Given the description of an element on the screen output the (x, y) to click on. 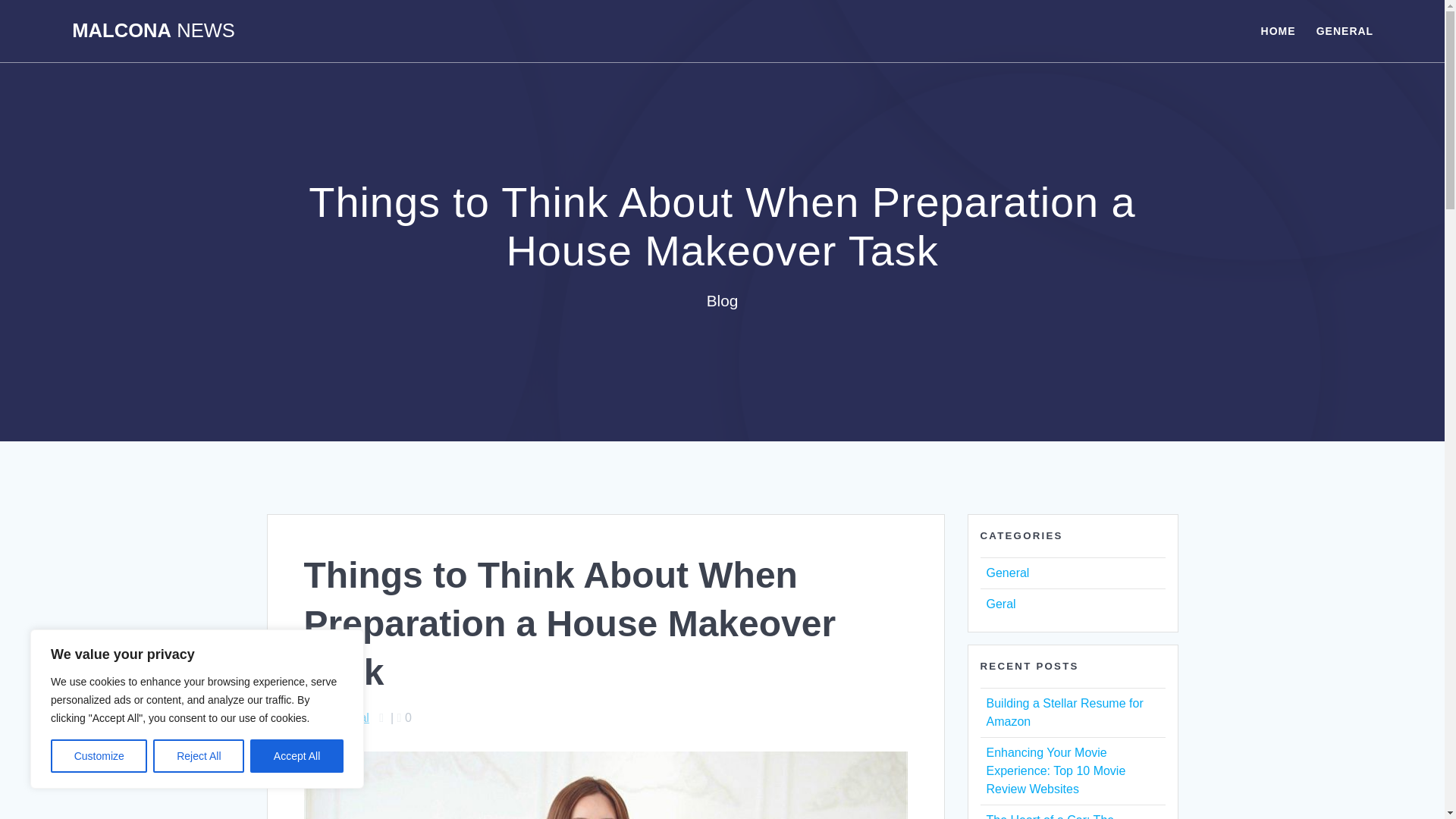
GENERAL (1344, 30)
General (1007, 572)
Customize (98, 756)
HOME (1277, 30)
MALCONA NEWS (152, 30)
Geral (999, 603)
Accept All (296, 756)
General (347, 717)
